Given the description of an element on the screen output the (x, y) to click on. 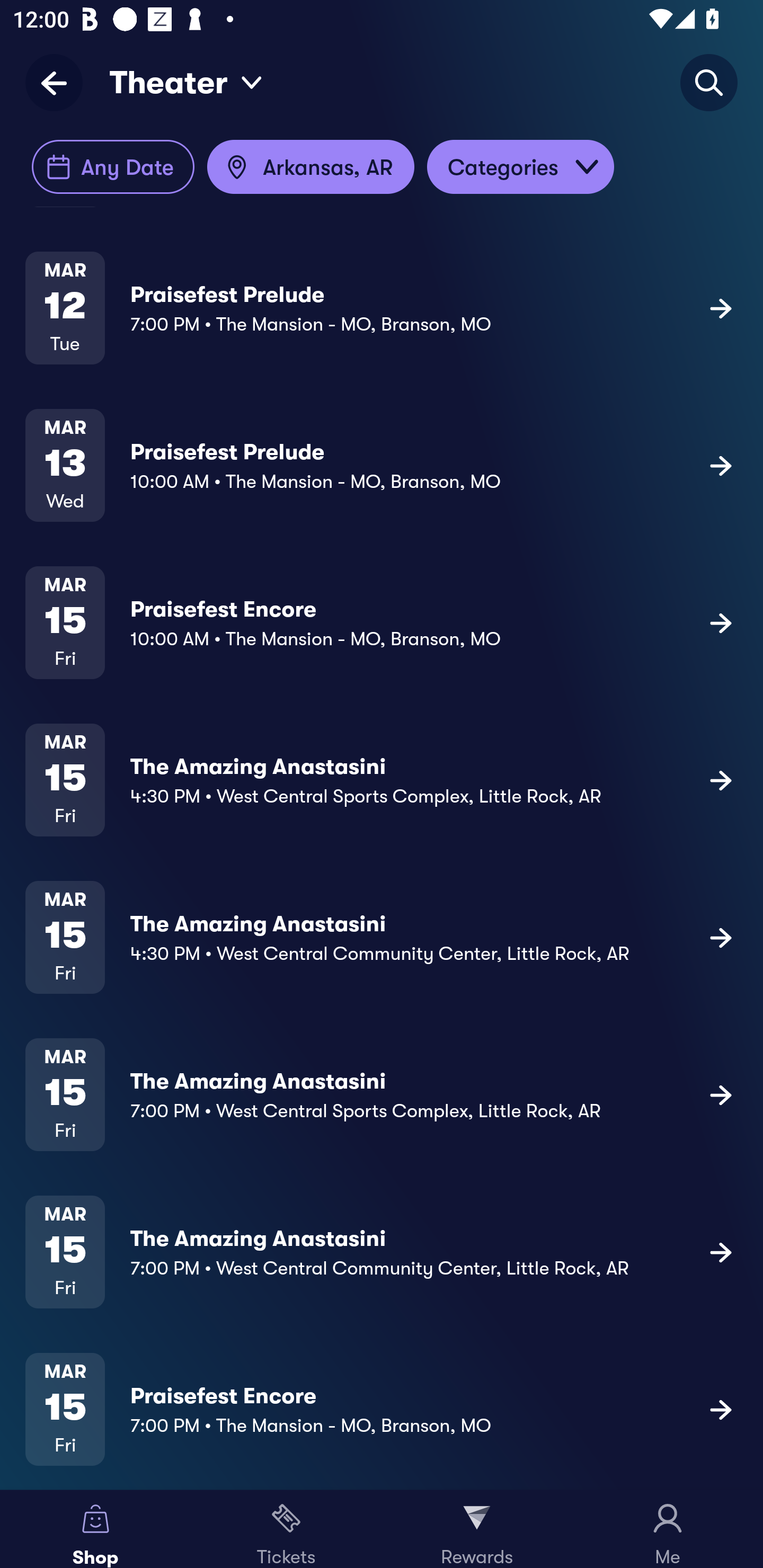
Back (60, 82)
Theater (185, 82)
Any Date (113, 166)
Arkansas, AR (310, 166)
Categories (520, 166)
Open (586, 166)
Shop (95, 1529)
Tickets (285, 1529)
Rewards (476, 1529)
Me (667, 1529)
